Given the description of an element on the screen output the (x, y) to click on. 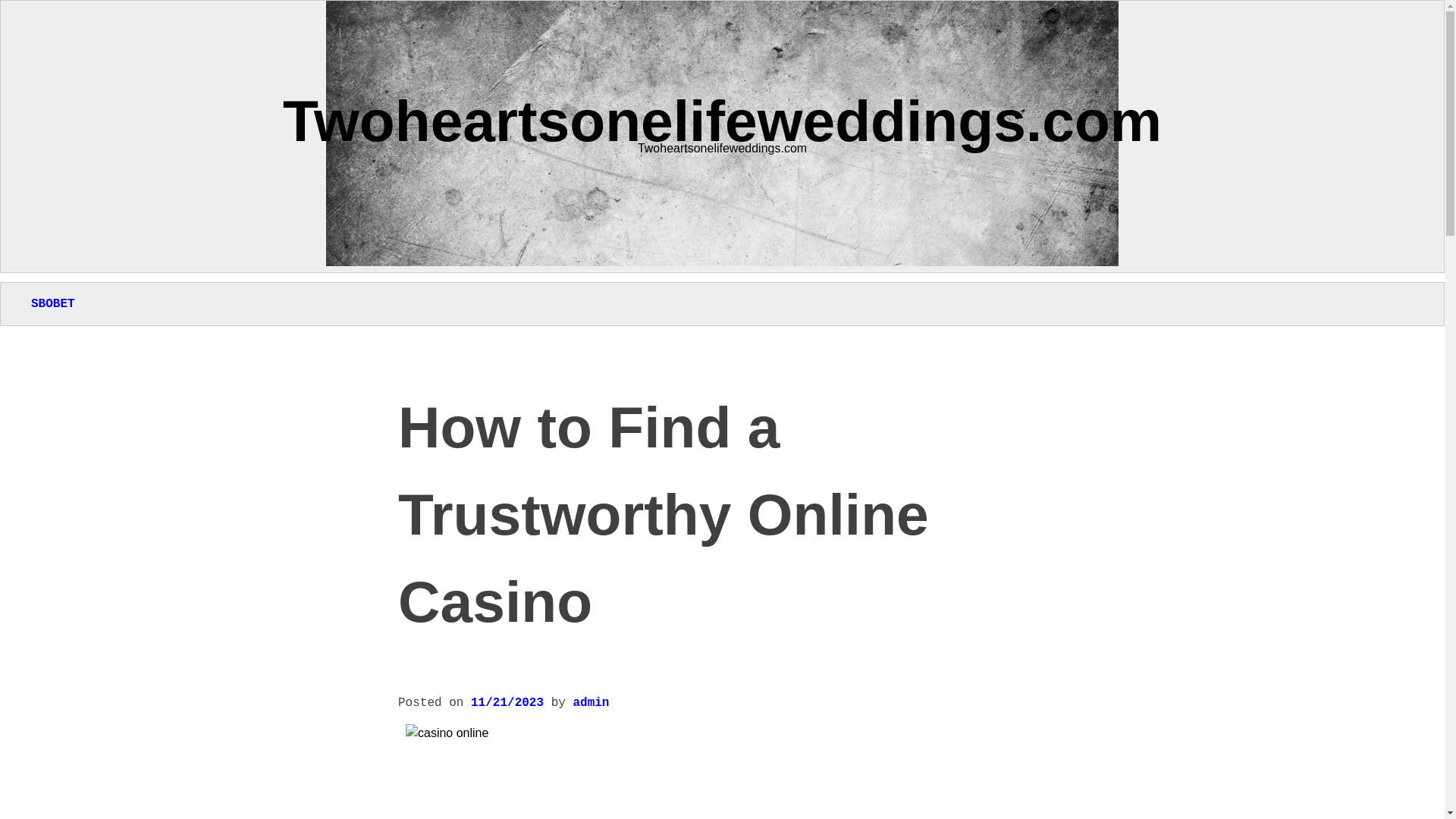
admin (590, 703)
Twoheartsonelifeweddings.com (721, 120)
SBOBET (52, 304)
